Given the description of an element on the screen output the (x, y) to click on. 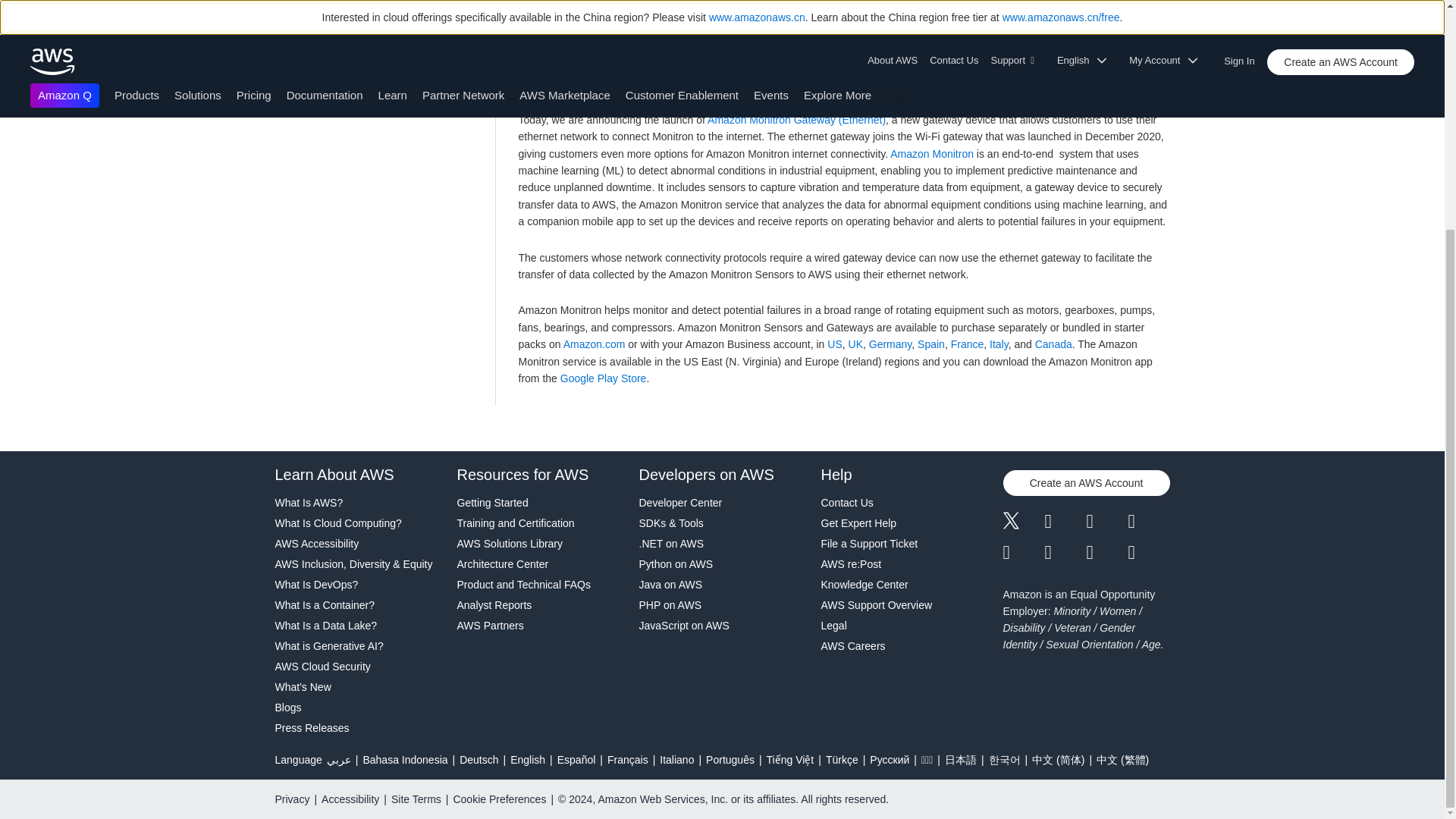
Press Releases (358, 727)
Instagram (1149, 522)
Facebook (1065, 522)
Podcast (1106, 552)
Linkedin (1106, 522)
Twitch (1023, 552)
Twitter (1023, 522)
YouTube (1065, 552)
